Given the description of an element on the screen output the (x, y) to click on. 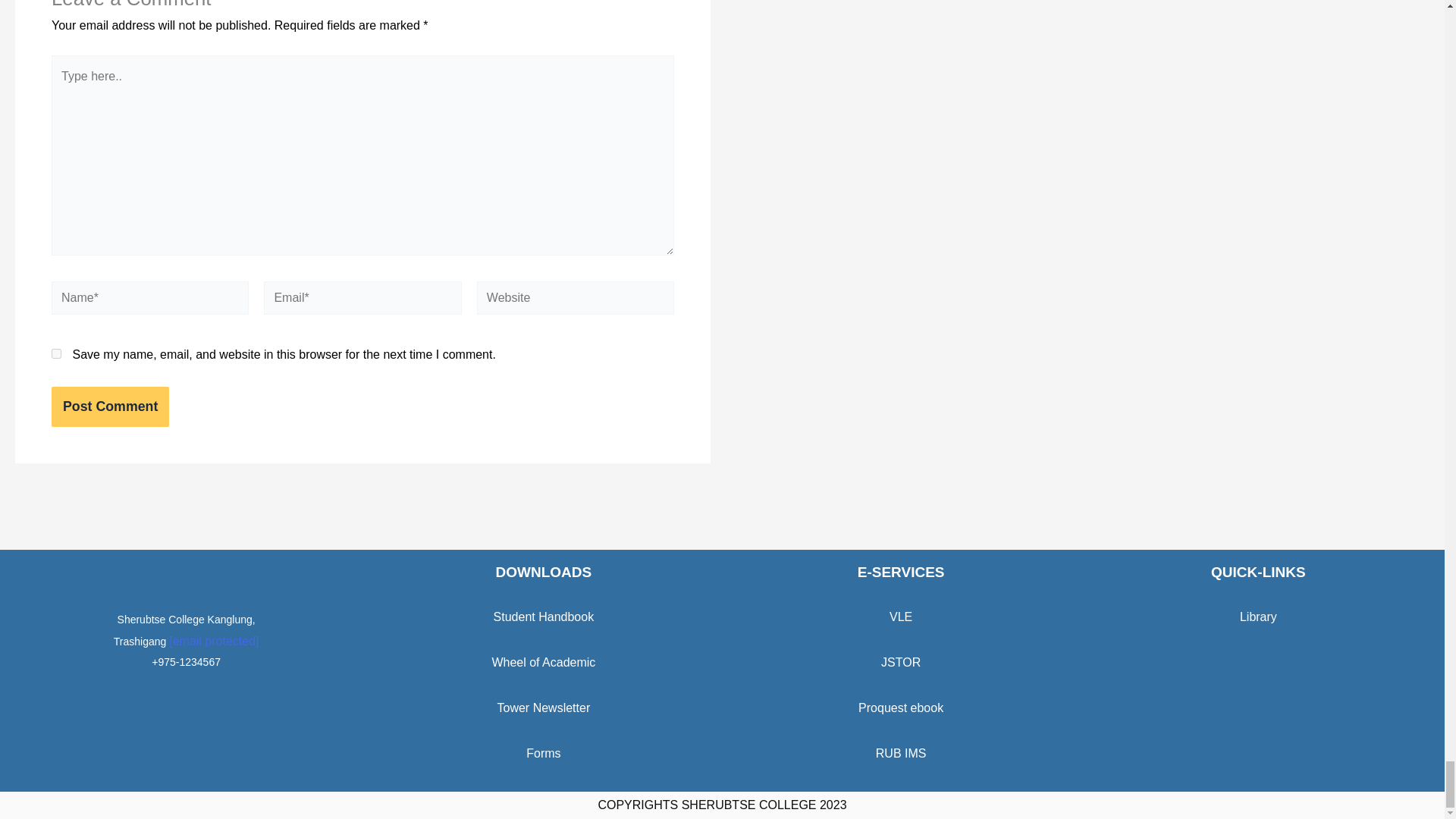
yes (55, 353)
Post Comment (109, 406)
